Given the description of an element on the screen output the (x, y) to click on. 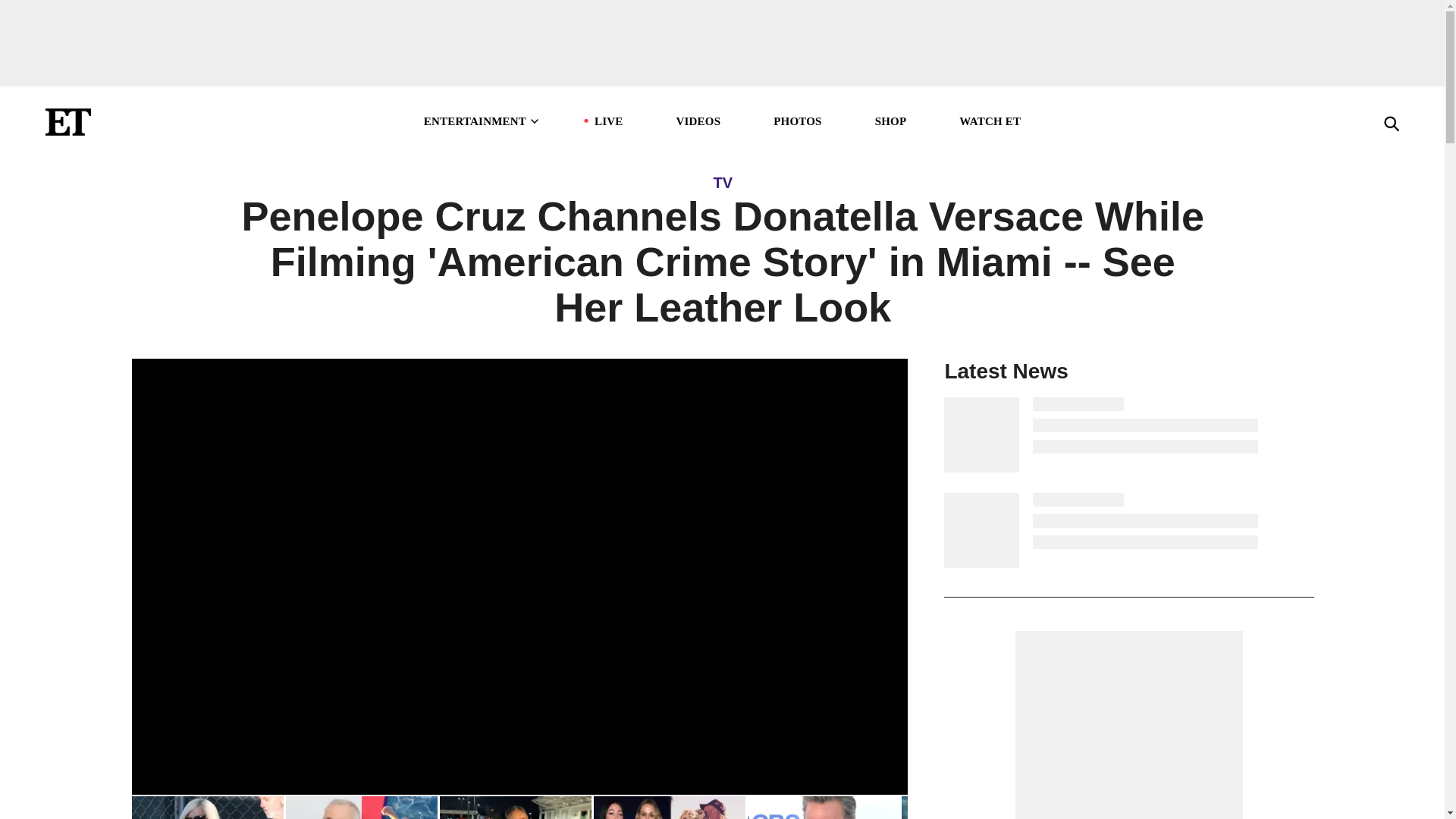
WATCH ET (989, 120)
SHOP (891, 120)
Major Disney Project Updates! MCU, 'Tron' and More (975, 807)
ENTERTAINMENT (482, 120)
TV (722, 182)
VIDEOS (697, 120)
